Given the description of an element on the screen output the (x, y) to click on. 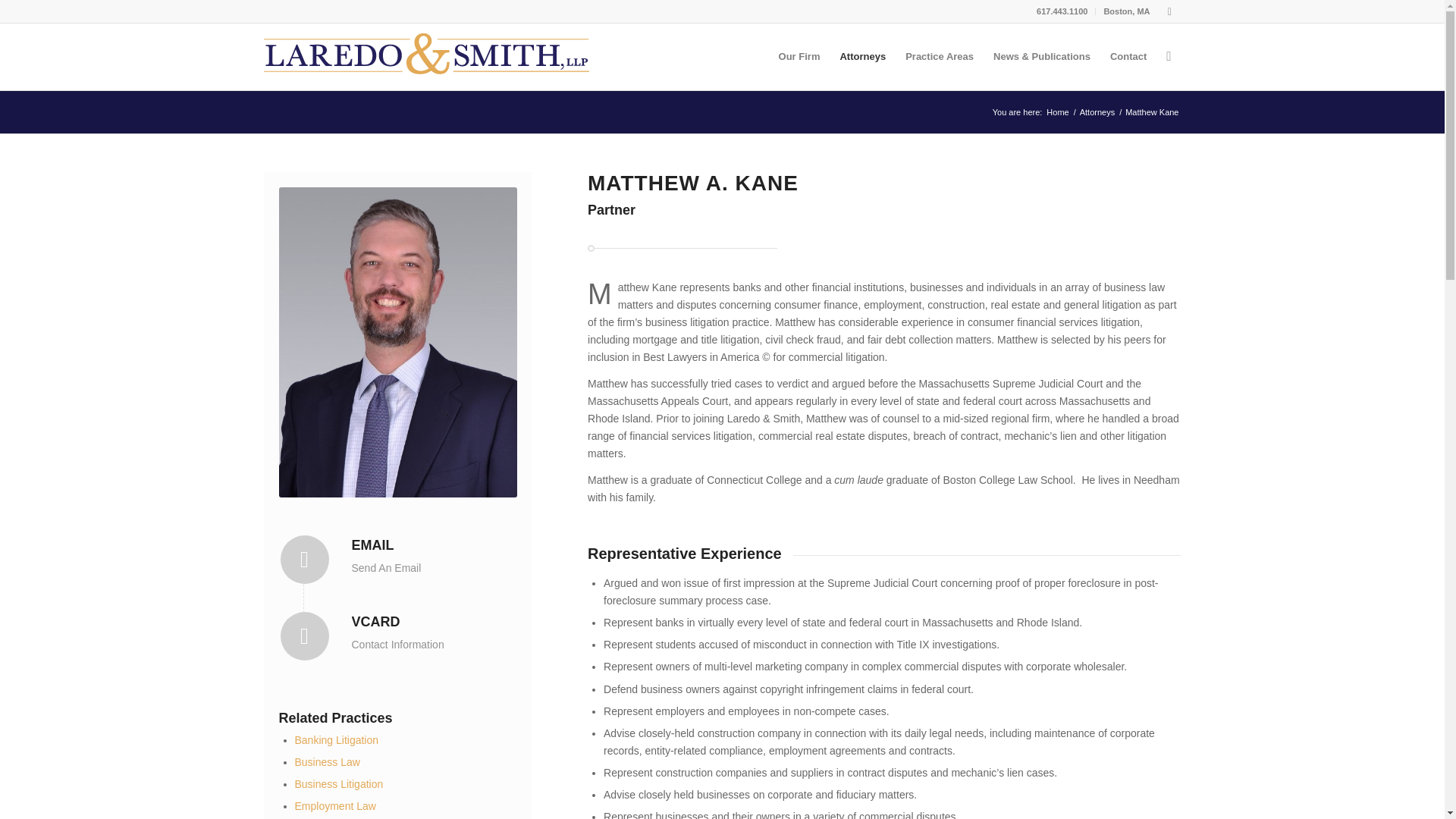
EMAIL (373, 544)
Home (1056, 112)
Boston, MA (1126, 11)
Attorneys (1096, 112)
Banking Litigation (336, 739)
Business Litigation (338, 784)
vCard (305, 635)
Email (373, 544)
Our Firm (798, 56)
617.443.1100 (1061, 11)
LinkedIn (1169, 11)
Practice Areas (939, 56)
Business Law (326, 761)
Attorneys (862, 56)
VCARD (376, 621)
